Given the description of an element on the screen output the (x, y) to click on. 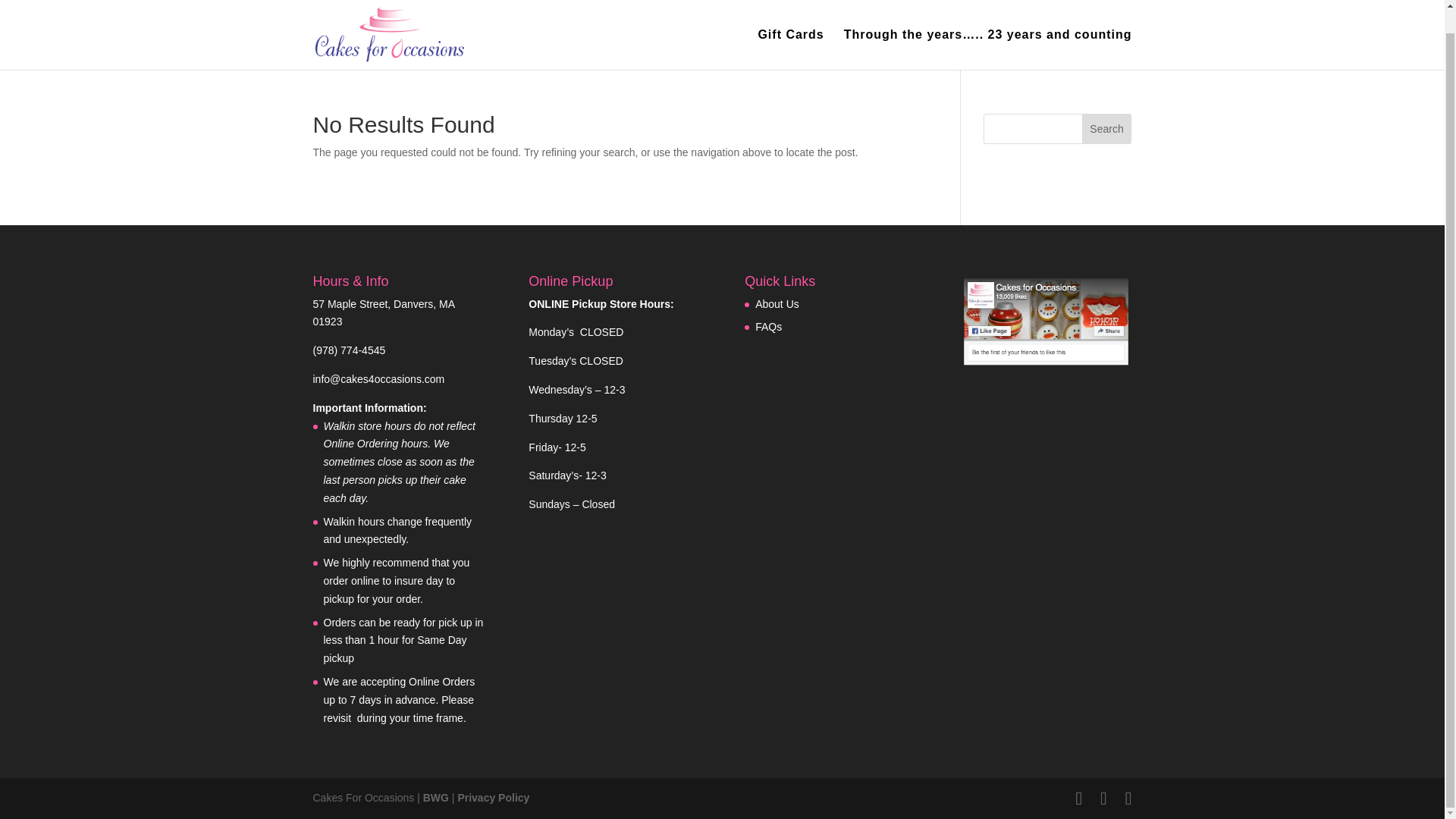
FAQs (768, 326)
Search (1106, 128)
About Us (777, 304)
Privacy Policy (493, 797)
Gift Cards (790, 49)
BWG (435, 797)
Search (1106, 128)
